Given the description of an element on the screen output the (x, y) to click on. 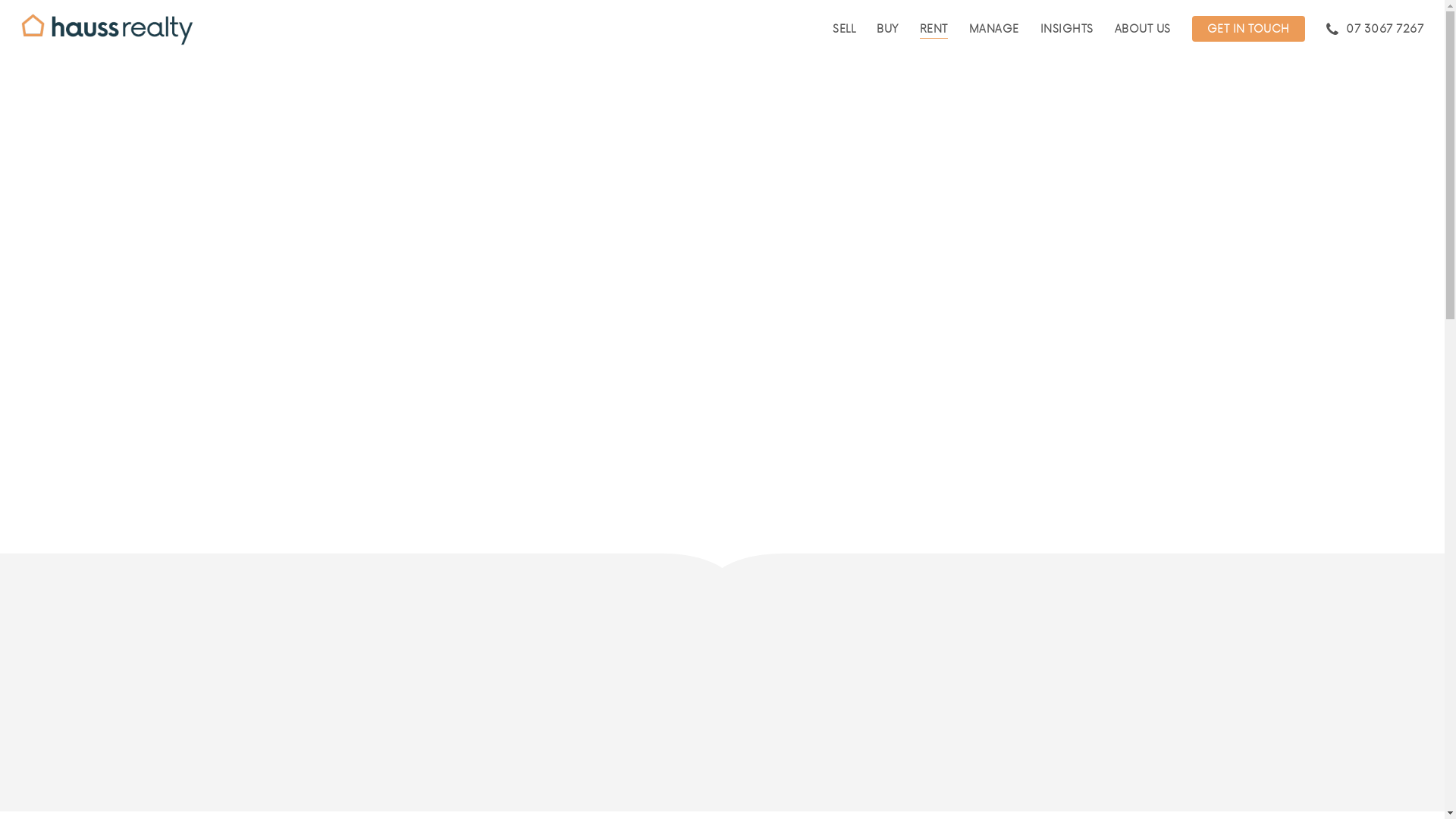
GET IN TOUCH Element type: text (1248, 28)
BUY Element type: text (887, 28)
SELL Element type: text (843, 28)
ABOUT US Element type: text (1142, 28)
07 3067 7267 Element type: text (1374, 28)
INSIGHTS Element type: text (1066, 28)
RENT Element type: text (933, 28)
MANAGE Element type: text (994, 28)
